Given the description of an element on the screen output the (x, y) to click on. 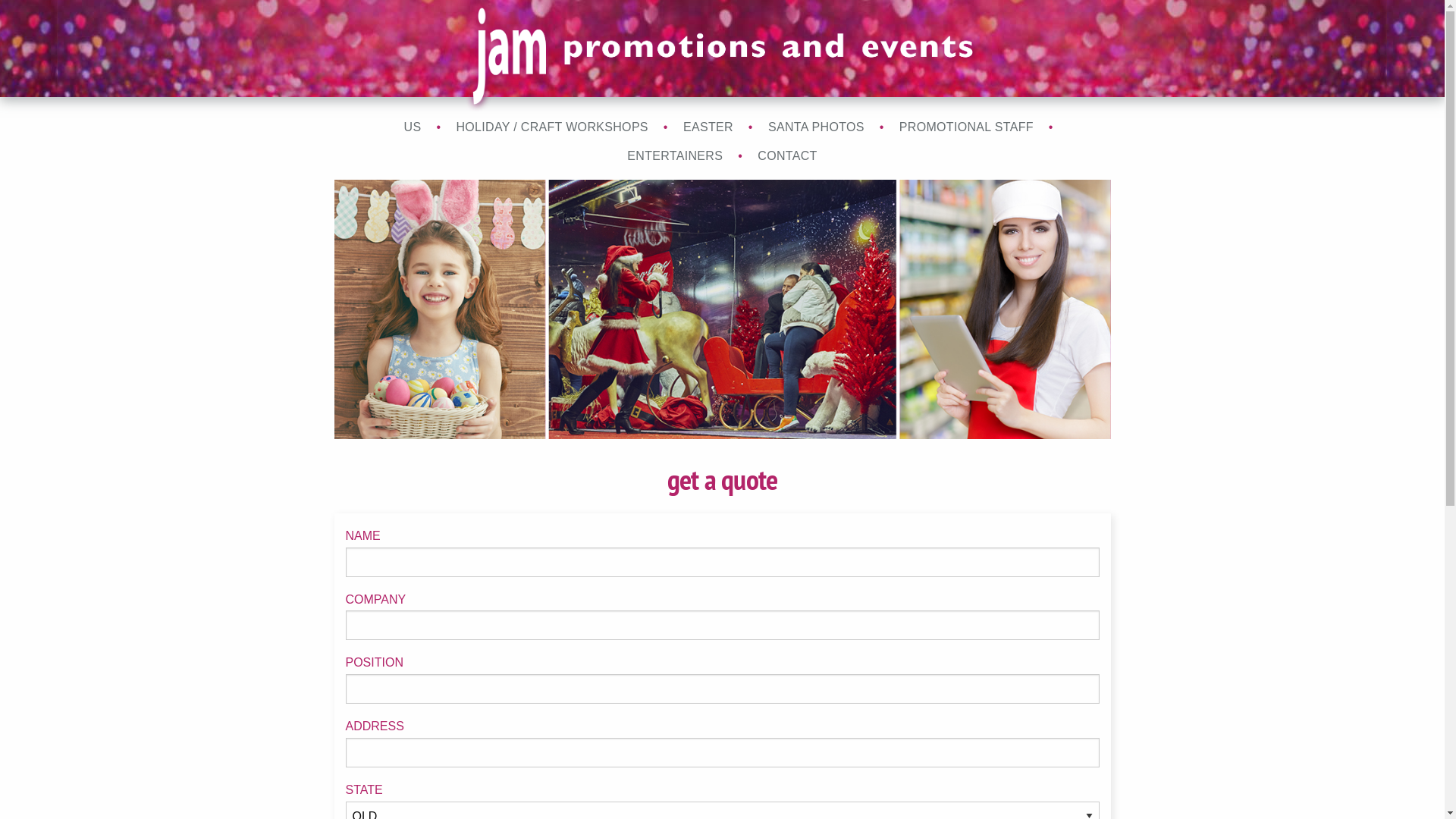
ENTERTAINERS Element type: text (674, 155)
US Element type: text (412, 126)
HOLIDAY / CRAFT WORKSHOPS Element type: text (551, 126)
EASTER Element type: text (708, 126)
CONTACT Element type: text (786, 155)
PROMOTIONAL STAFF Element type: text (966, 126)
SANTA PHOTOS Element type: text (816, 126)
